Given the description of an element on the screen output the (x, y) to click on. 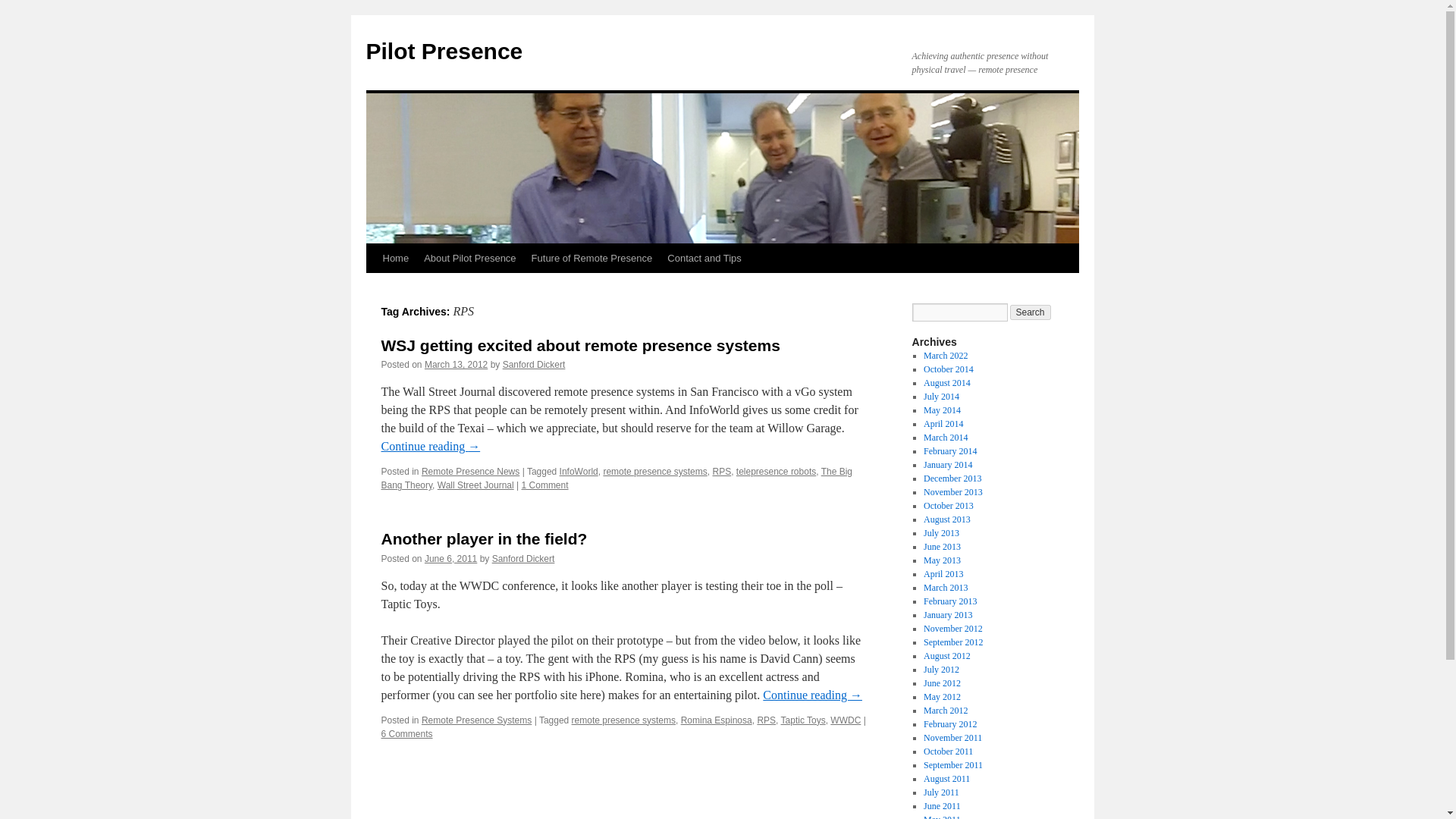
Why does this blog exist? (469, 258)
InfoWorld (578, 471)
remote presence systems (623, 719)
View all posts by Sanford Dickert (534, 364)
Wall Street Journal (475, 484)
Remote Presence Systems (476, 719)
April 2014 (942, 423)
Romina Espinosa (716, 719)
telepresence robots (775, 471)
8:39 pm (451, 558)
